Given the description of an element on the screen output the (x, y) to click on. 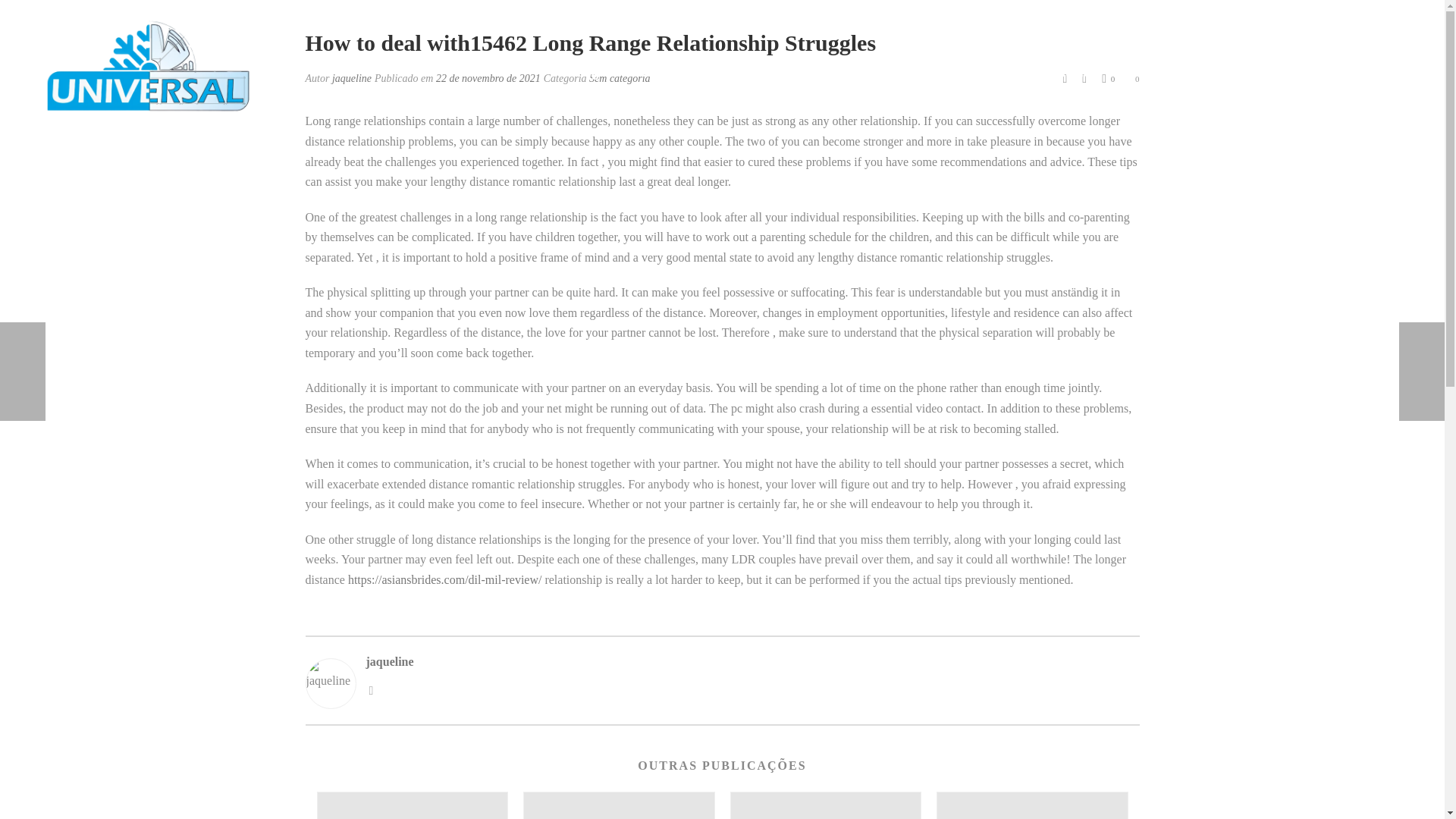
Get in touch with me via email (370, 689)
Posts de jaqueline (351, 78)
jaqueline (751, 661)
  0 (1133, 77)
Gaya Santai Main Superbull Online Tanpa Rugi (1031, 805)
Imprimir (1064, 77)
Contato (1064, 71)
jaqueline (351, 78)
0 (1108, 78)
Clientes (987, 71)
Cari Hiburan Gratis? Coba Main Slot Demo Mahjong! (619, 805)
Sem categoria (619, 78)
22 de novembro de 2021 (487, 78)
